Given the description of an element on the screen output the (x, y) to click on. 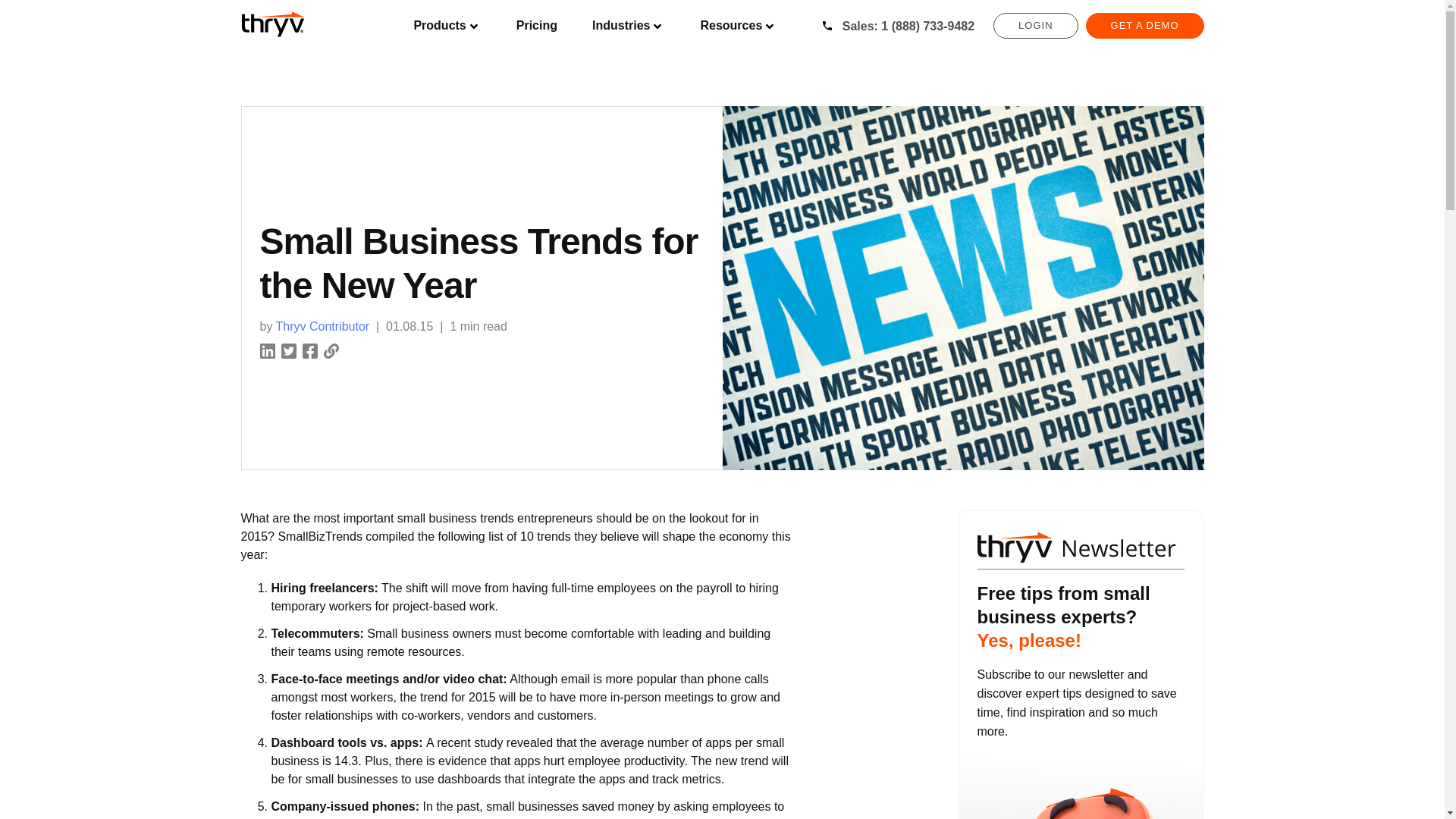
Share on Facebook (309, 349)
Share on LinkedIn (267, 349)
Products (446, 26)
Industries (627, 26)
Copy Link (331, 349)
Share on X (289, 349)
Pricing (536, 26)
Posts by Thryv Contributor (322, 326)
